Given the description of an element on the screen output the (x, y) to click on. 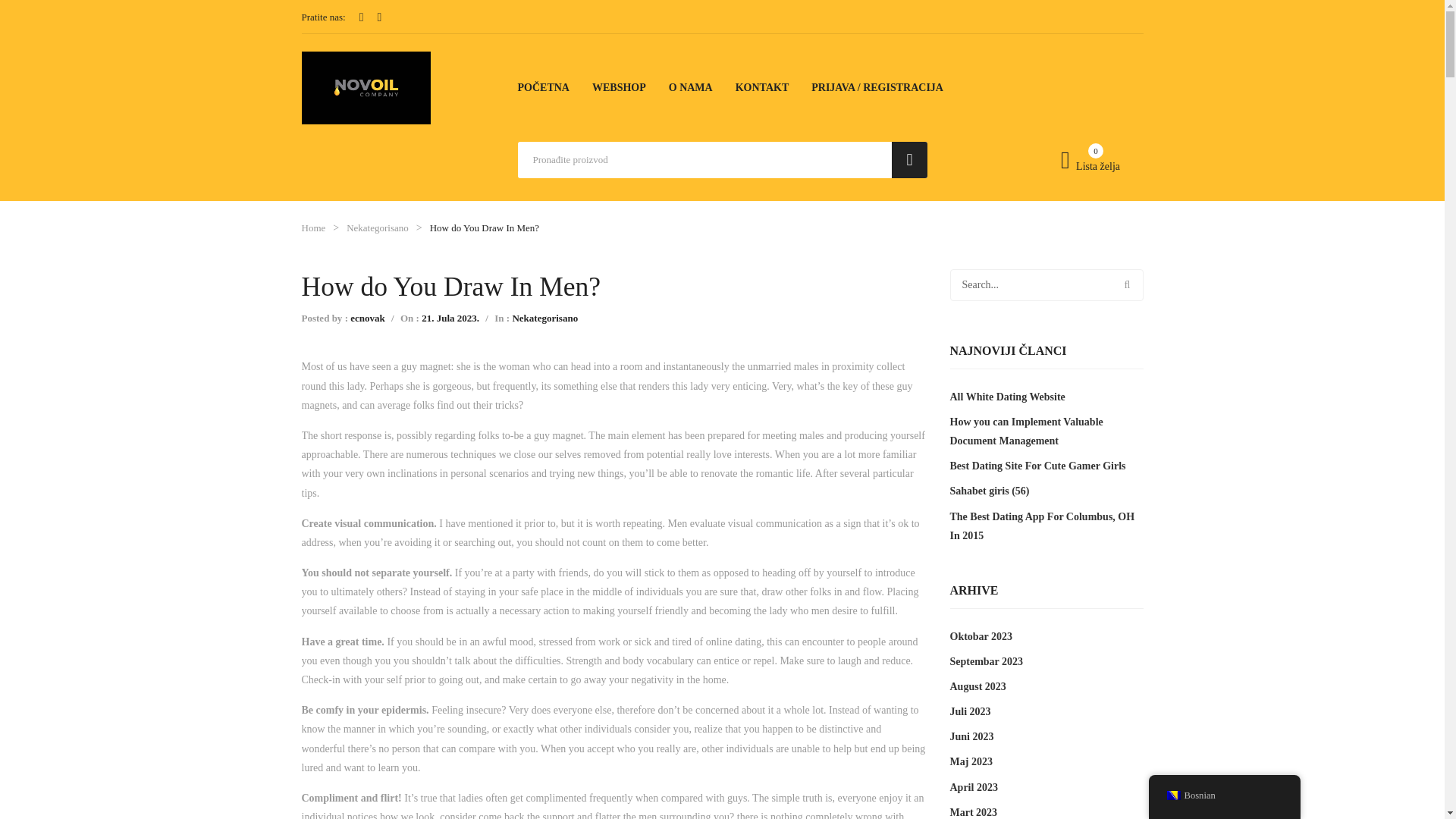
21. Jula 2023. (450, 317)
NovOil (365, 86)
ecnovak (367, 317)
Nekategorisano (377, 227)
WEBSHOP (619, 87)
O NAMA (690, 87)
Nekategorisano (545, 317)
Bosnian (1172, 795)
KONTAKT (762, 87)
Home (313, 227)
